Given the description of an element on the screen output the (x, y) to click on. 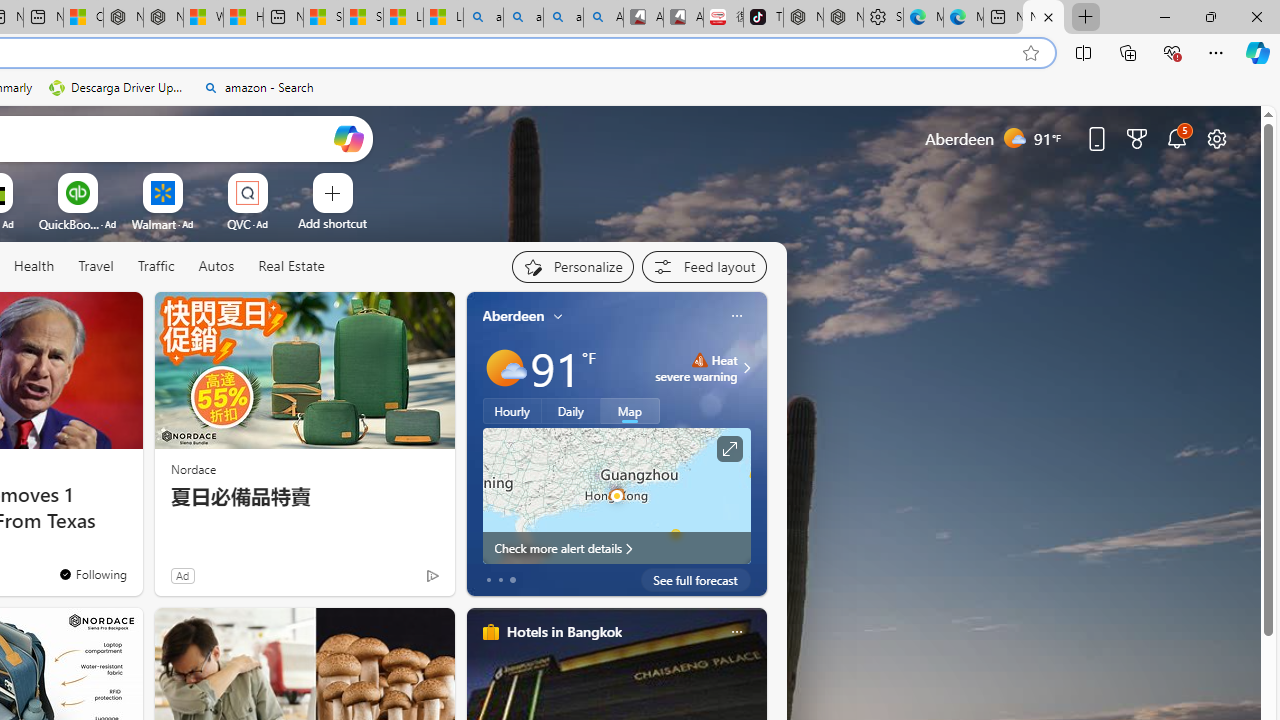
Page settings (1216, 138)
Autos (216, 267)
You're following FOX News (390, 579)
You're following Newsweek (92, 573)
Hourly (511, 411)
Check more alert details (616, 547)
Heat - Severe (699, 359)
